Given the description of an element on the screen output the (x, y) to click on. 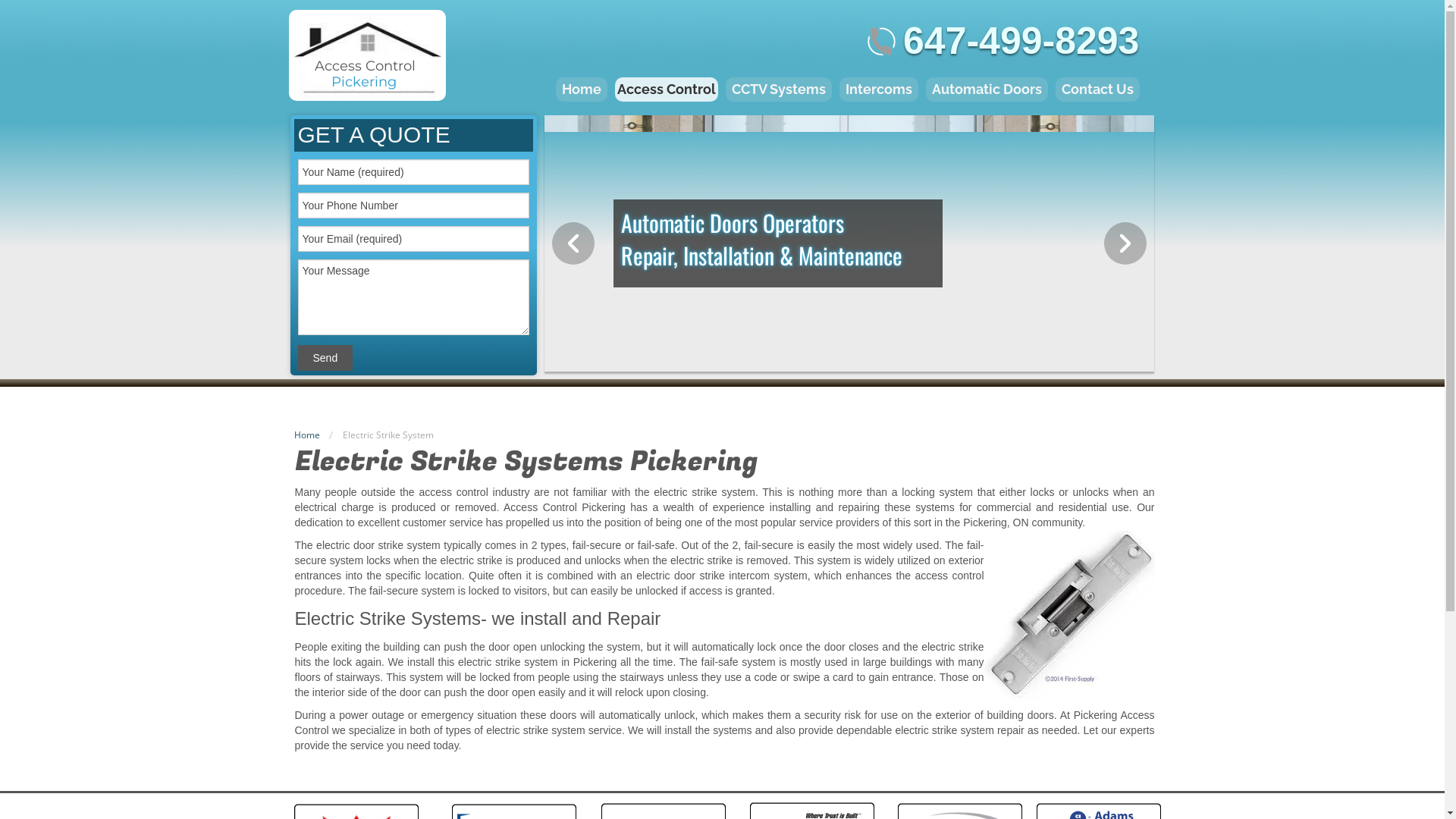
Home Element type: text (581, 89)
Access Control Element type: text (666, 89)
Send Element type: text (324, 357)
Contact Us Element type: text (1097, 89)
Automatic Doors Element type: text (986, 89)
Pickering Element type: text (363, 81)
CCTV Systems Element type: text (778, 89)
Home Element type: text (307, 434)
Access Control Element type: text (364, 65)
Intercoms Element type: text (878, 89)
